Given the description of an element on the screen output the (x, y) to click on. 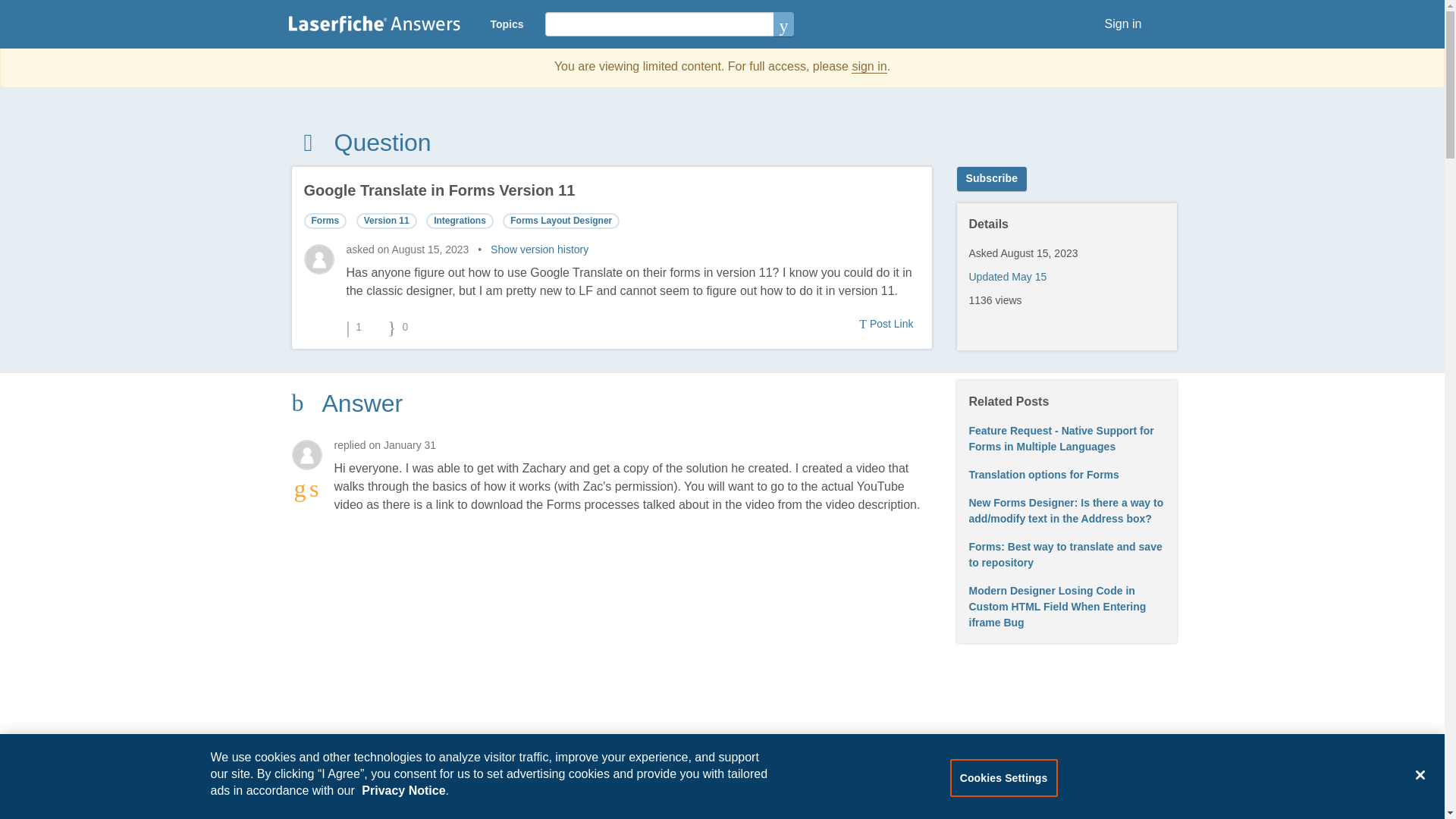
Sign in (1123, 24)
Show version history (539, 249)
Version 11 (386, 220)
Forms (324, 220)
Topics (506, 24)
sign in (868, 66)
Forms Layout Designer (561, 220)
Integrations (459, 220)
